Given the description of an element on the screen output the (x, y) to click on. 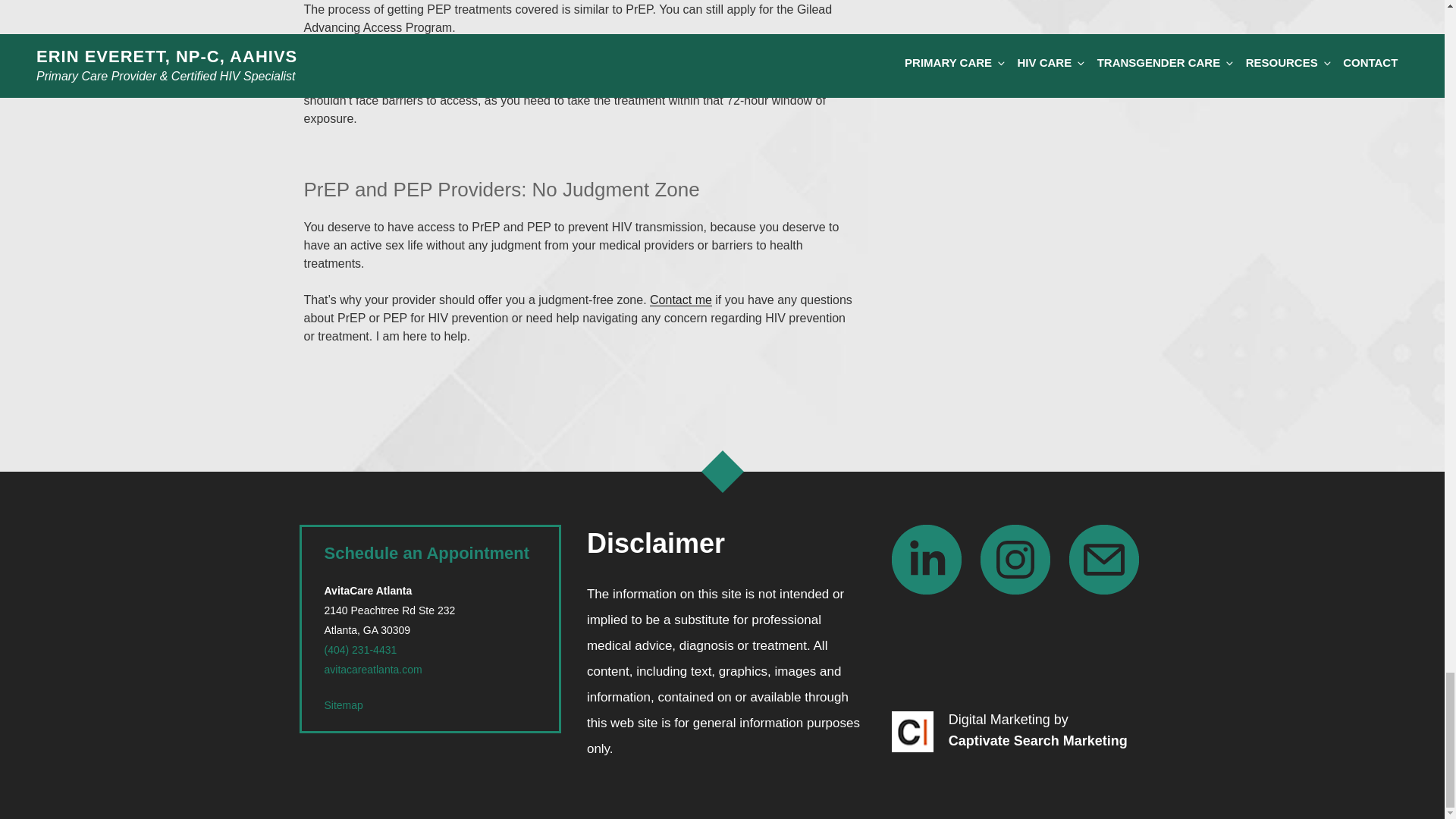
Contact me (680, 299)
HIV specialist, (558, 72)
